Given the description of an element on the screen output the (x, y) to click on. 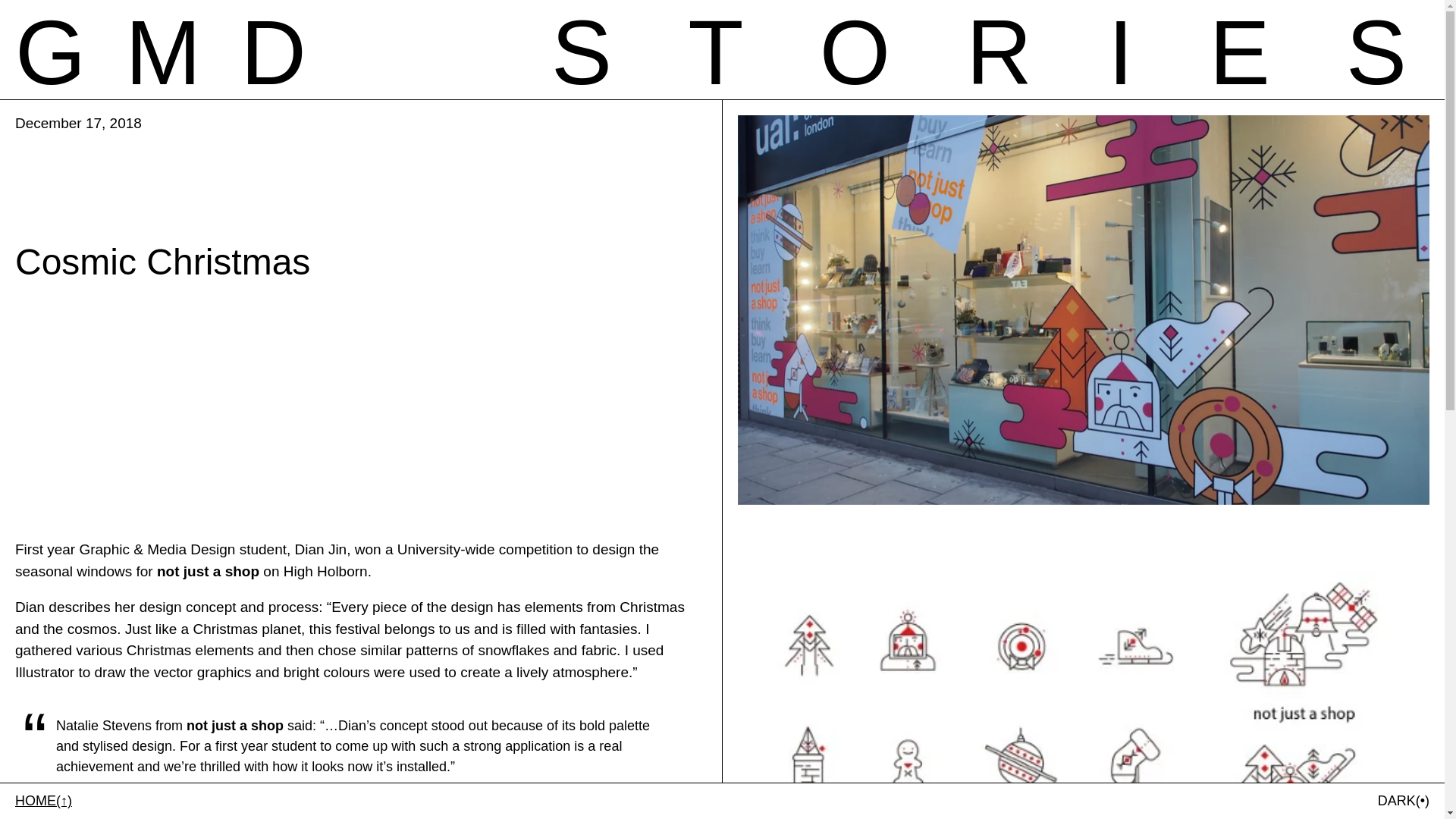
not just a shop (159, 52)
